Given the description of an element on the screen output the (x, y) to click on. 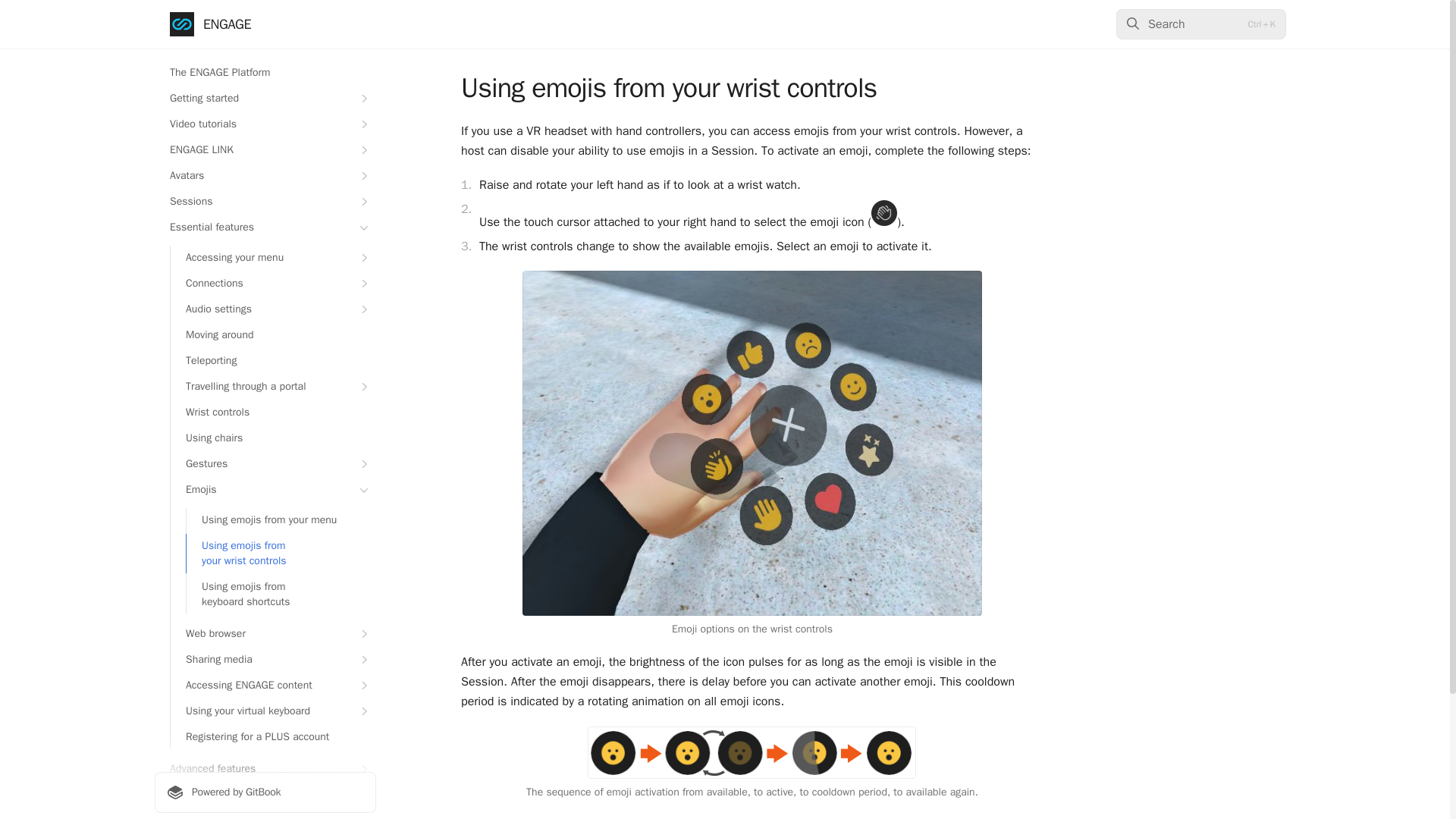
Getting started (264, 98)
Video tutorials (264, 124)
ENGAGE (210, 24)
Avatars (264, 175)
ENGAGE LINK (264, 150)
The ENGAGE Platform (264, 72)
